Given the description of an element on the screen output the (x, y) to click on. 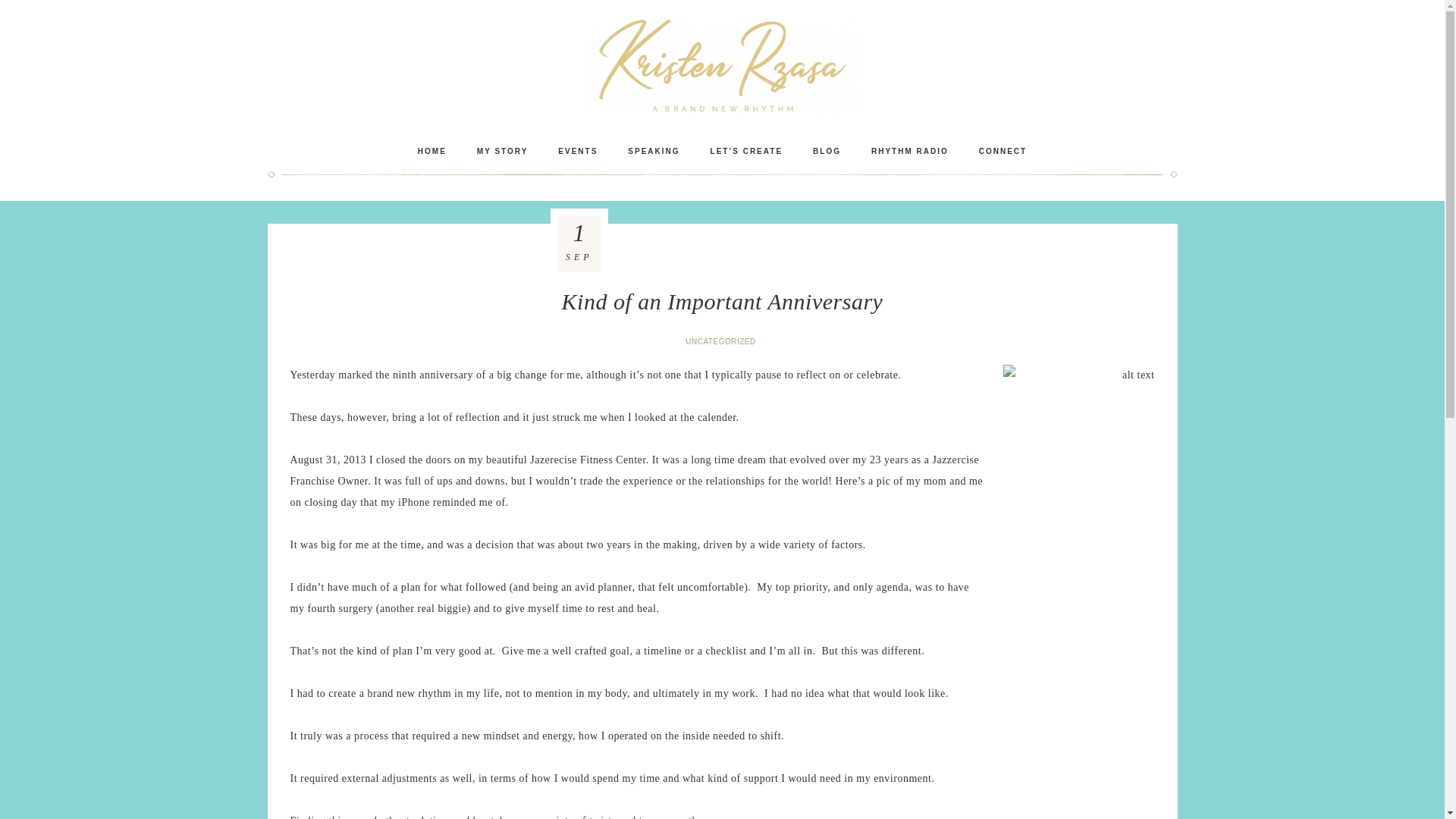
EVENTS (577, 151)
KRISTEN RZASA (722, 65)
RHYTHM RADIO (909, 151)
HOME (432, 151)
UNCATEGORIZED (721, 341)
BLOG (826, 151)
MY STORY (502, 151)
CONNECT (1002, 151)
SPEAKING (653, 151)
